Given the description of an element on the screen output the (x, y) to click on. 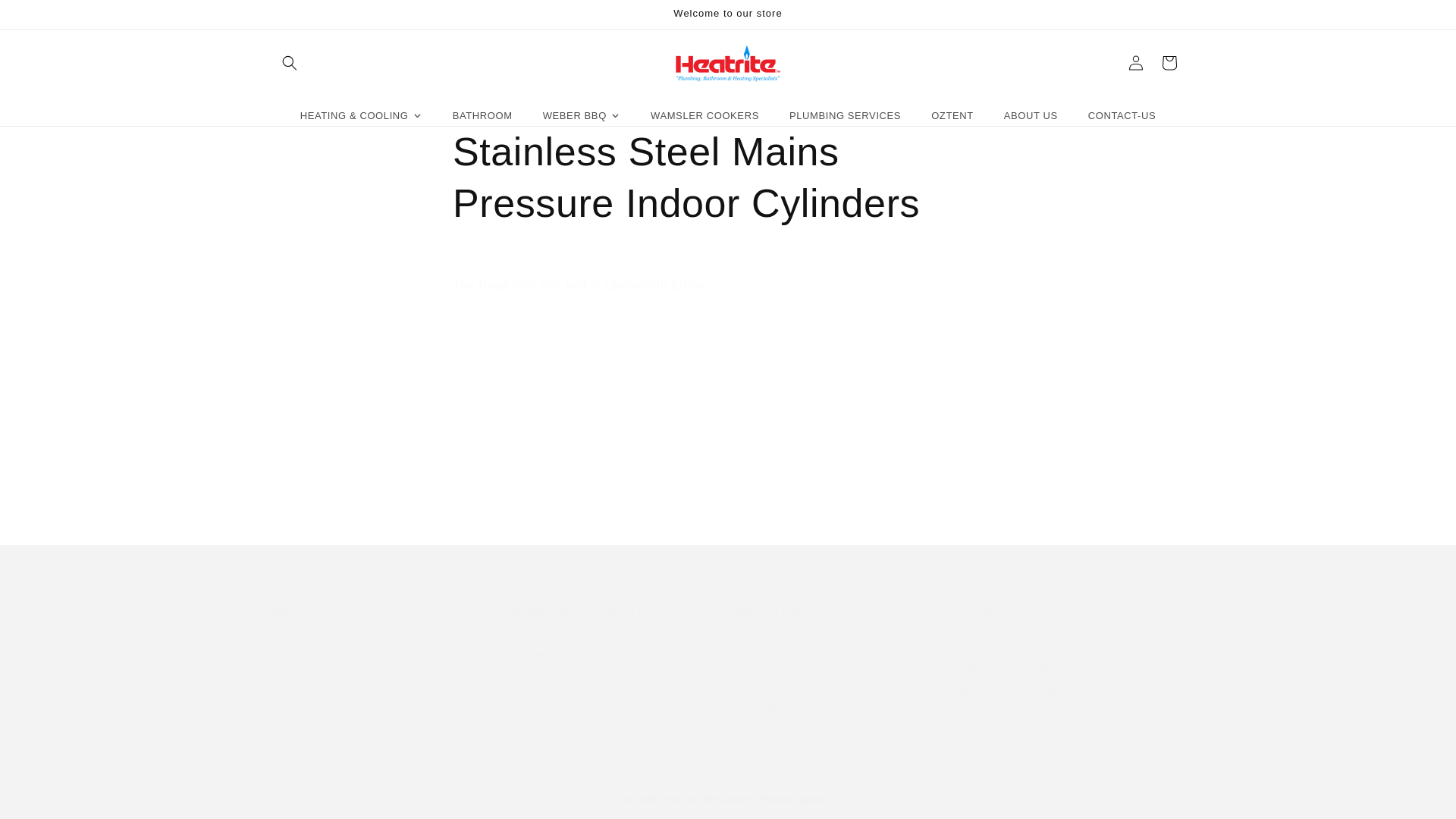
Stainless Steel Mains Pressure Indoor Cylinders (727, 177)
The Page only can edit in LayoutHub Editor (727, 285)
Skip to content (45, 17)
